Given the description of an element on the screen output the (x, y) to click on. 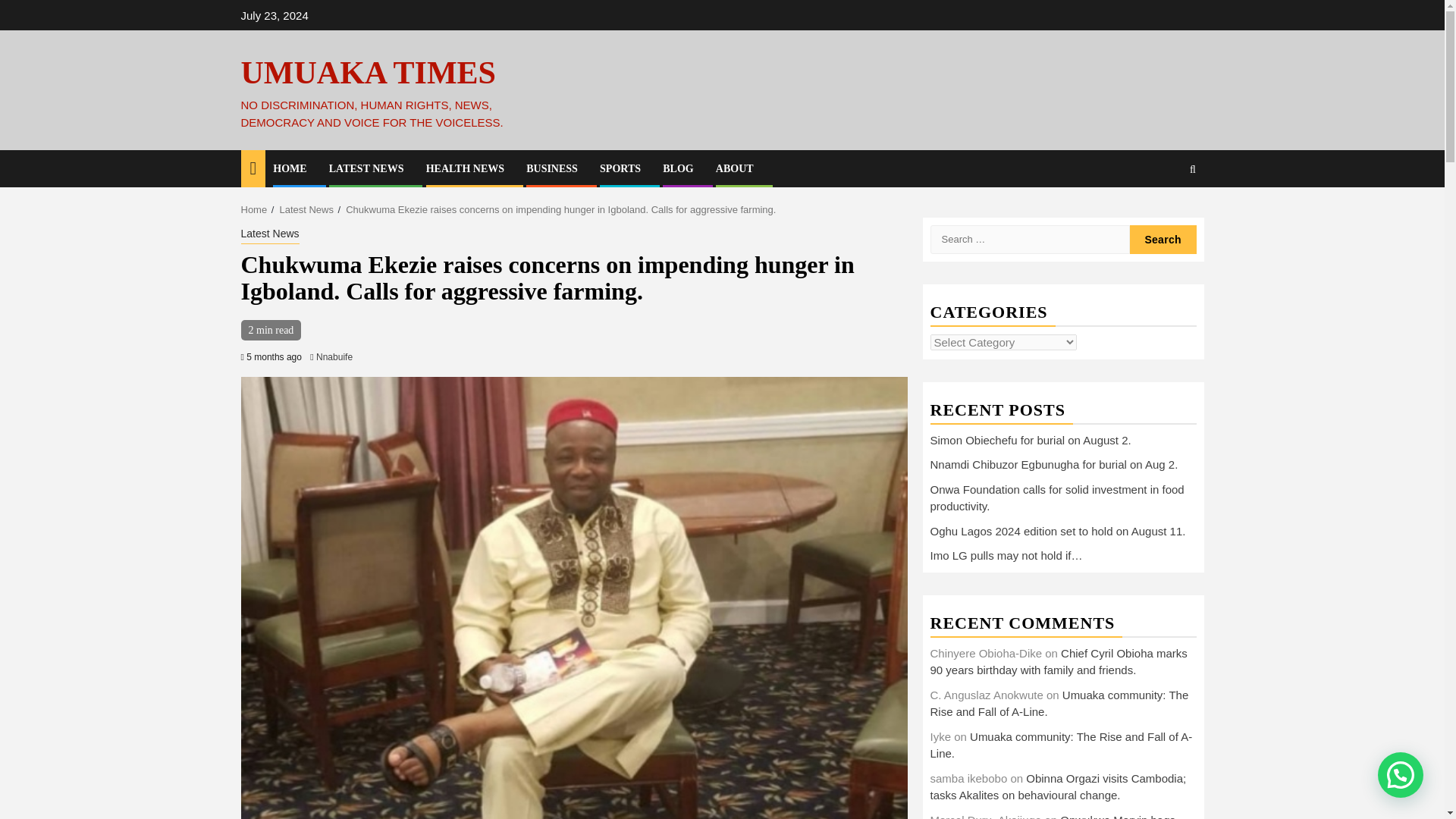
Search (1162, 239)
HEALTH NEWS (464, 168)
UMUAKA TIMES (368, 72)
ABOUT (735, 168)
Nnabuife (333, 357)
BLOG (677, 168)
Search (1162, 239)
Home (254, 209)
LATEST NEWS (366, 168)
Latest News (270, 235)
BUSINESS (551, 168)
HOME (289, 168)
SPORTS (619, 168)
Latest News (306, 209)
